Given the description of an element on the screen output the (x, y) to click on. 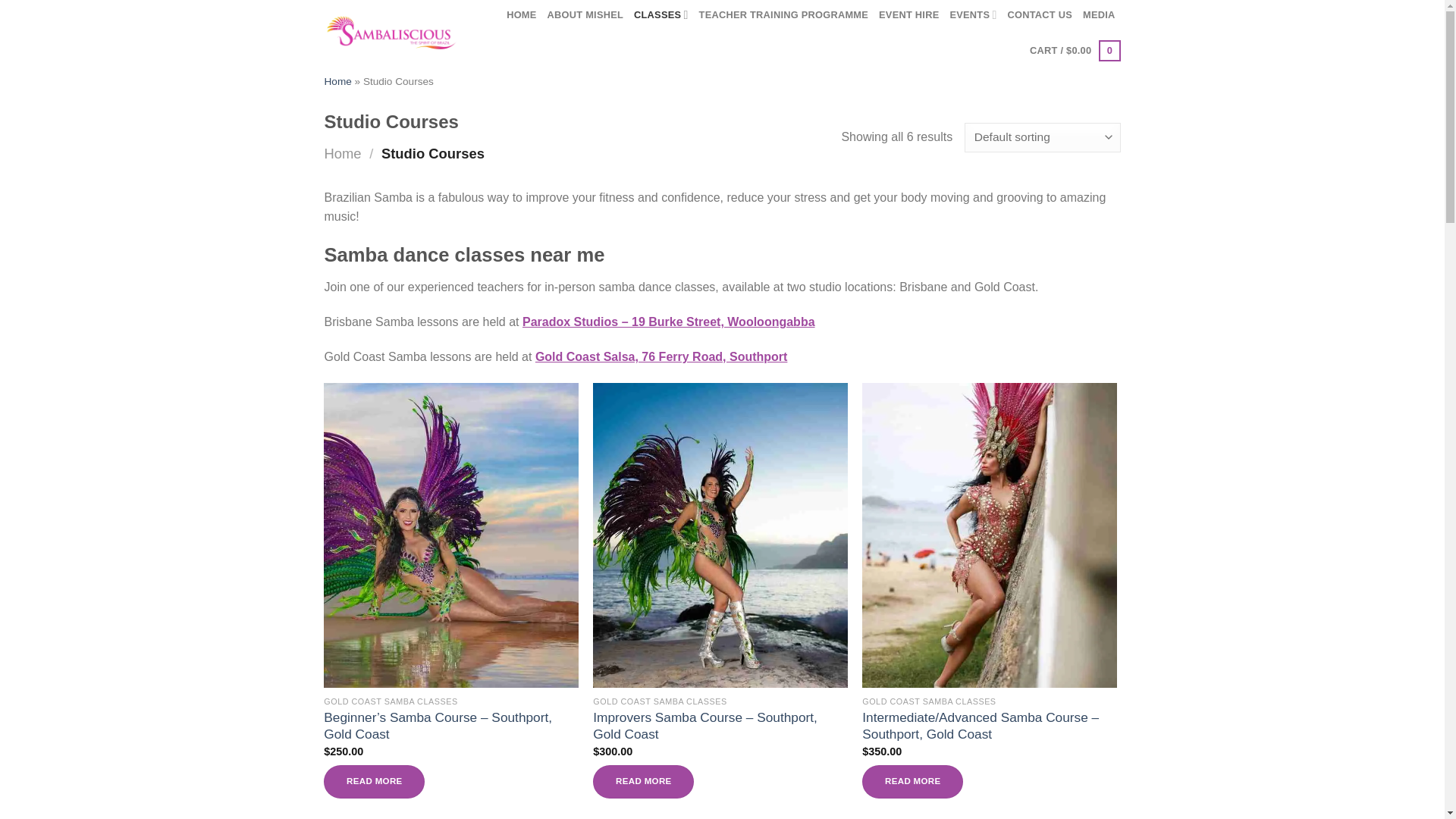
Cart (1074, 50)
ABOUT MISHEL (585, 14)
READ MORE (911, 780)
EVENTS (972, 14)
READ MORE (374, 780)
READ MORE (643, 780)
Home (342, 153)
TEACHER TRAINING PROGRAMME (783, 14)
EVENT HIRE (909, 14)
Home (338, 81)
HOME (520, 14)
MEDIA (1099, 14)
CONTACT US (1039, 14)
CLASSES (660, 14)
Gold Coast Salsa, 76 Ferry Road, Southport (661, 356)
